Given the description of an element on the screen output the (x, y) to click on. 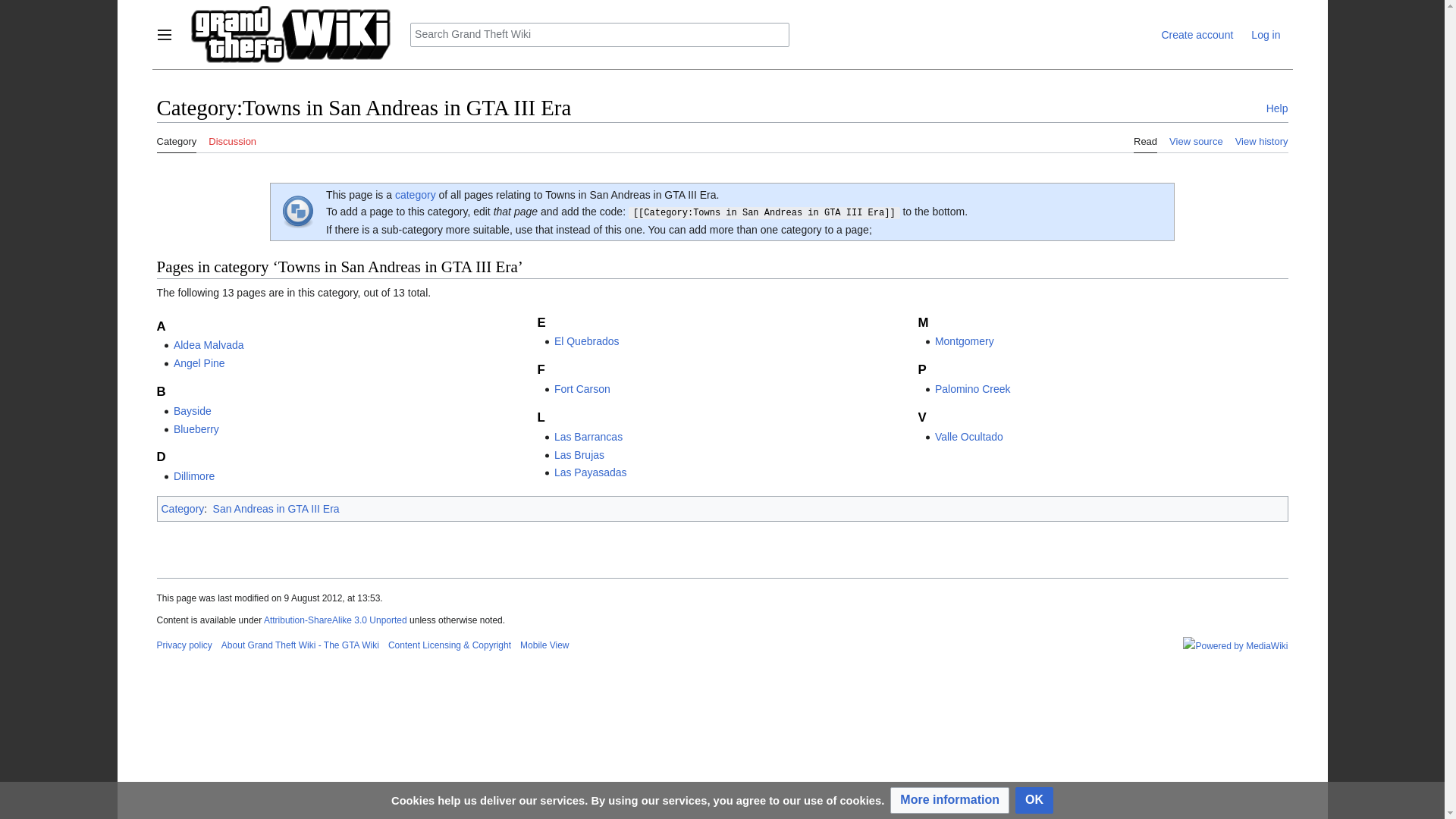
Search (776, 34)
Search (776, 34)
Go (776, 34)
Log in (1264, 34)
Main menu (163, 34)
Search pages for this text (776, 34)
Search (776, 34)
Go (776, 34)
Create account (1196, 34)
